Given the description of an element on the screen output the (x, y) to click on. 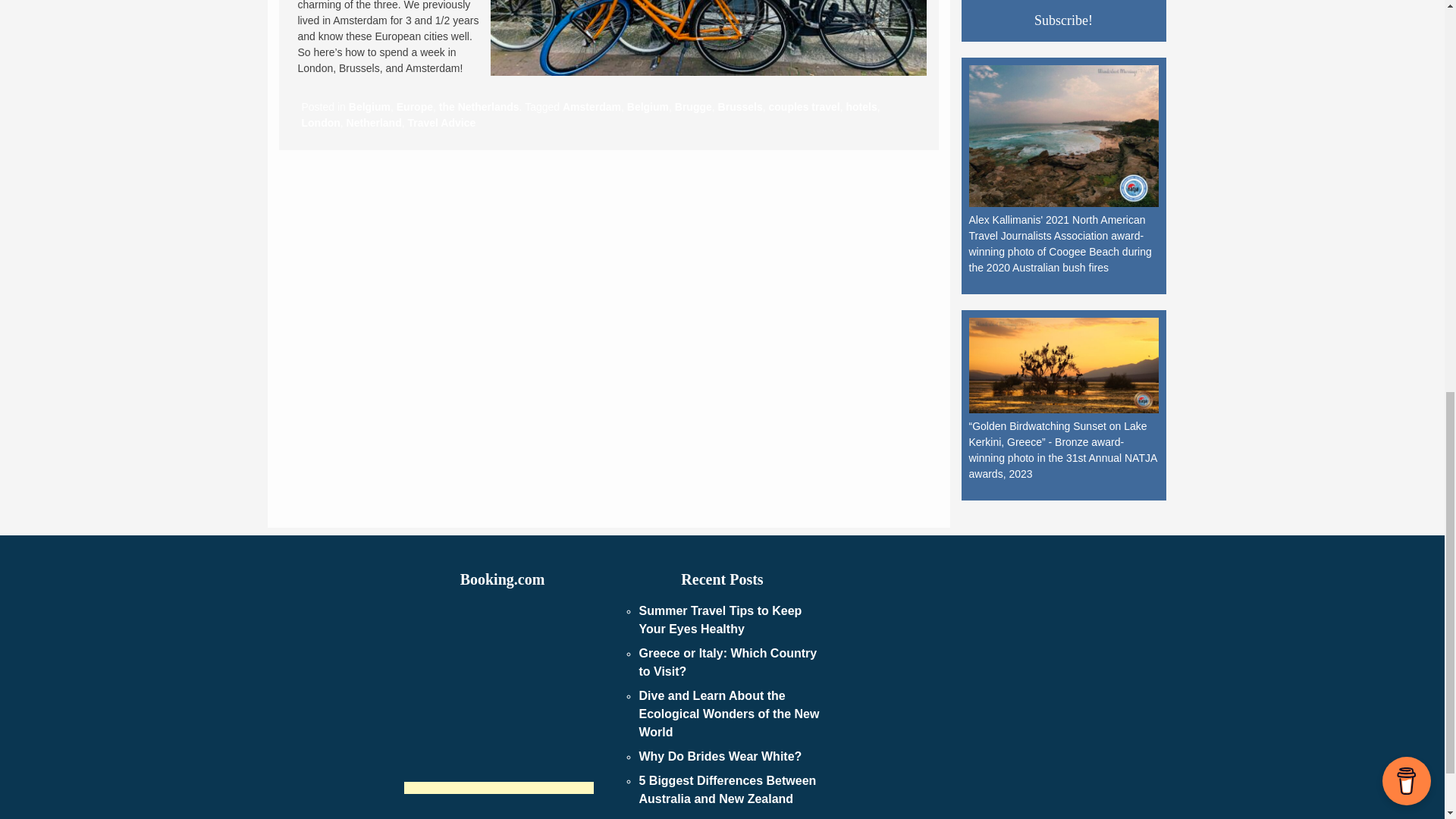
London, Brussels, Amsterdam: One Week Itinerary (708, 38)
Subscribe! (1063, 20)
Belgium (369, 106)
